Given the description of an element on the screen output the (x, y) to click on. 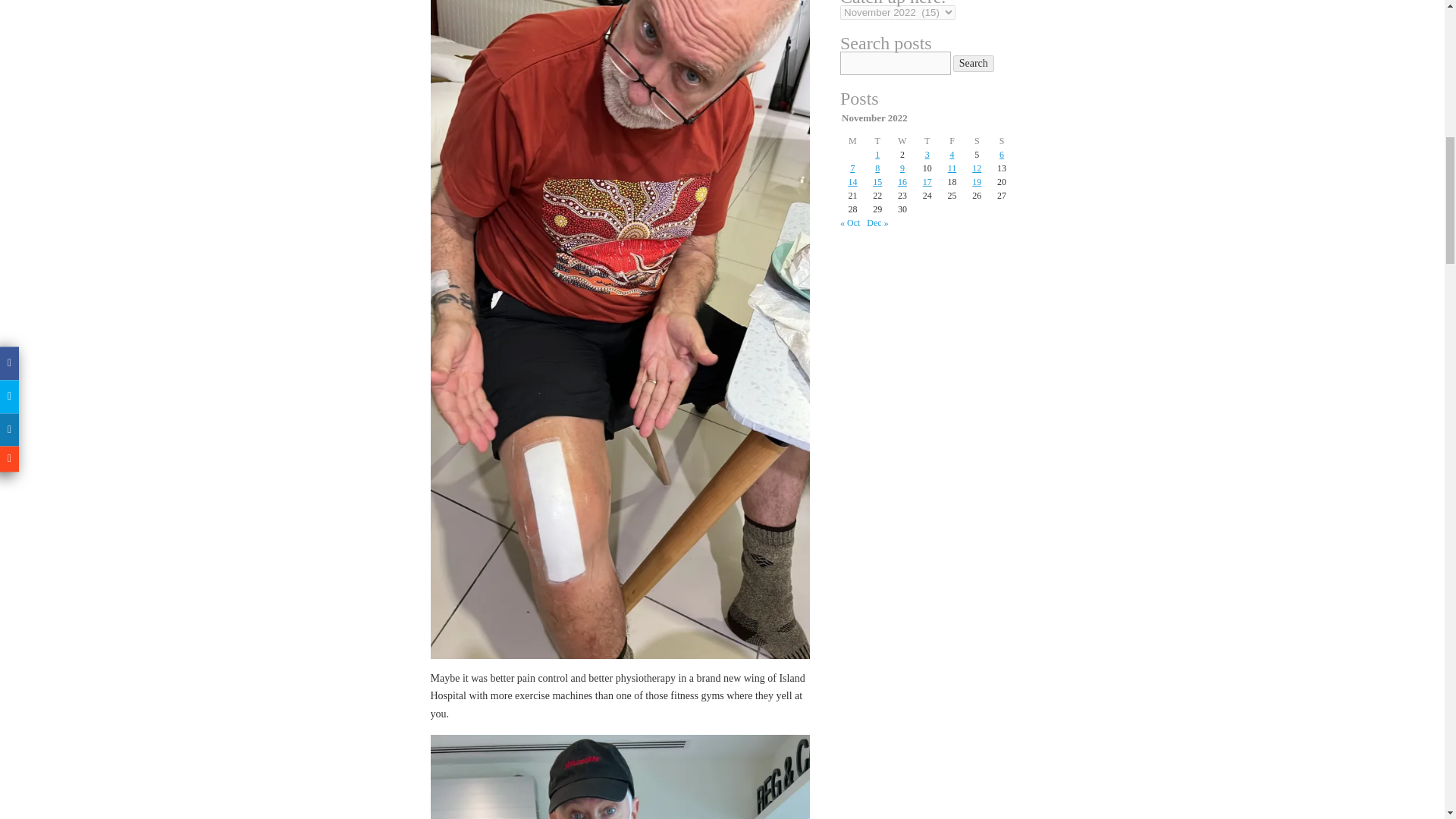
Search (973, 63)
Tuesday (876, 141)
Sunday (1002, 141)
Thursday (926, 141)
Search (973, 63)
Saturday (976, 141)
Wednesday (902, 141)
Monday (852, 141)
Friday (951, 141)
